Given the description of an element on the screen output the (x, y) to click on. 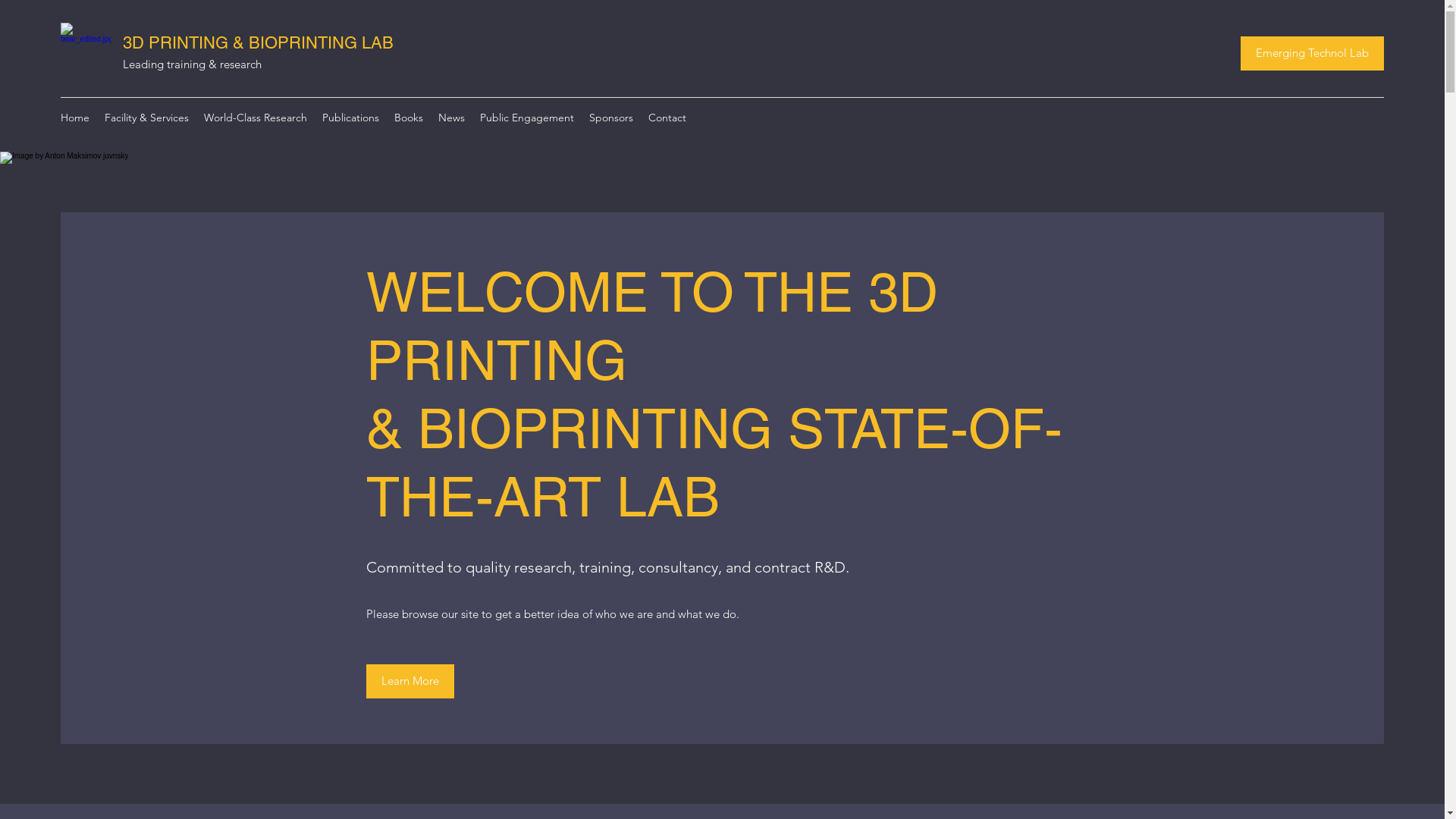
Books Element type: text (408, 117)
World-Class Research Element type: text (255, 117)
Contact Element type: text (666, 117)
Home Element type: text (75, 117)
Public Engagement Element type: text (526, 117)
3D PRINTING & BIOPRINTING LAB Element type: text (257, 42)
Emerging Technol Lab Element type: text (1311, 53)
Publications Element type: text (350, 117)
News Element type: text (451, 117)
Sponsors Element type: text (610, 117)
Facility & Services Element type: text (146, 117)
Learn More Element type: text (409, 681)
